Given the description of an element on the screen output the (x, y) to click on. 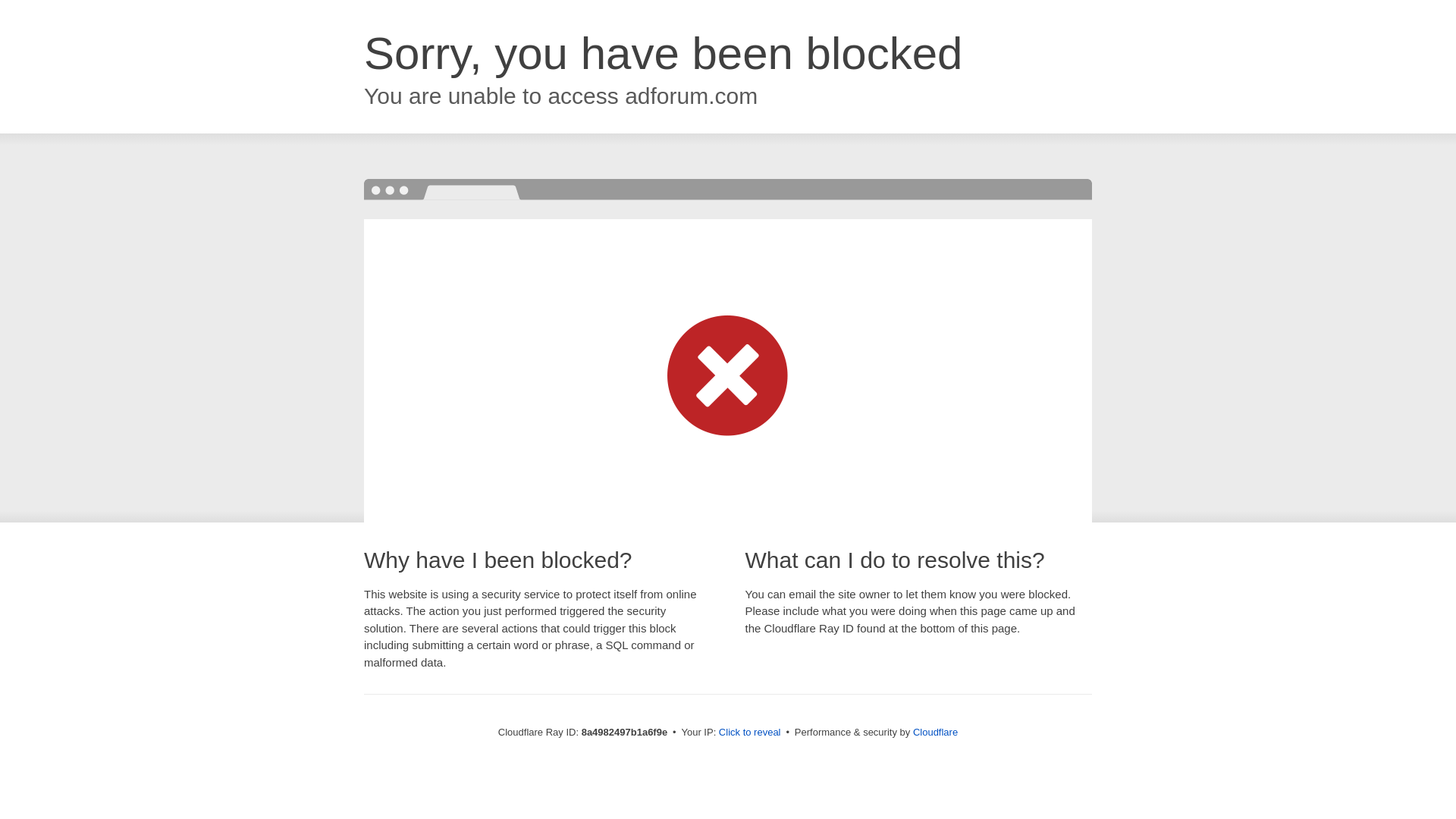
Click to reveal (749, 732)
Cloudflare (935, 731)
